Given the description of an element on the screen output the (x, y) to click on. 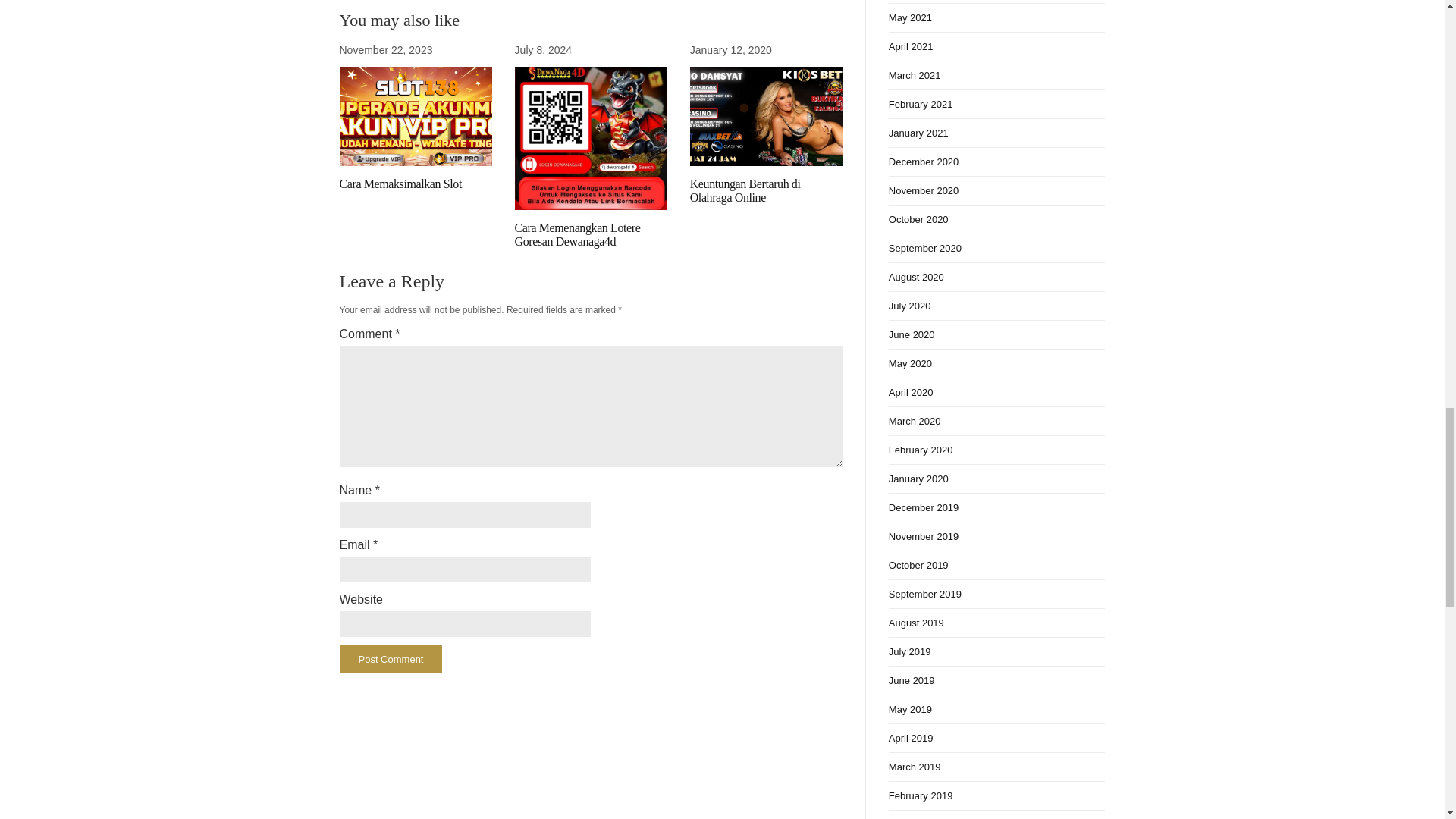
Cara Memaksimalkan Slot (400, 183)
Post Comment (390, 658)
Keuntungan Bertaruh di Olahraga Online (745, 190)
Post Comment (390, 658)
Cara Memenangkan Lotere Goresan Dewanaga4d (577, 234)
